Given the description of an element on the screen output the (x, y) to click on. 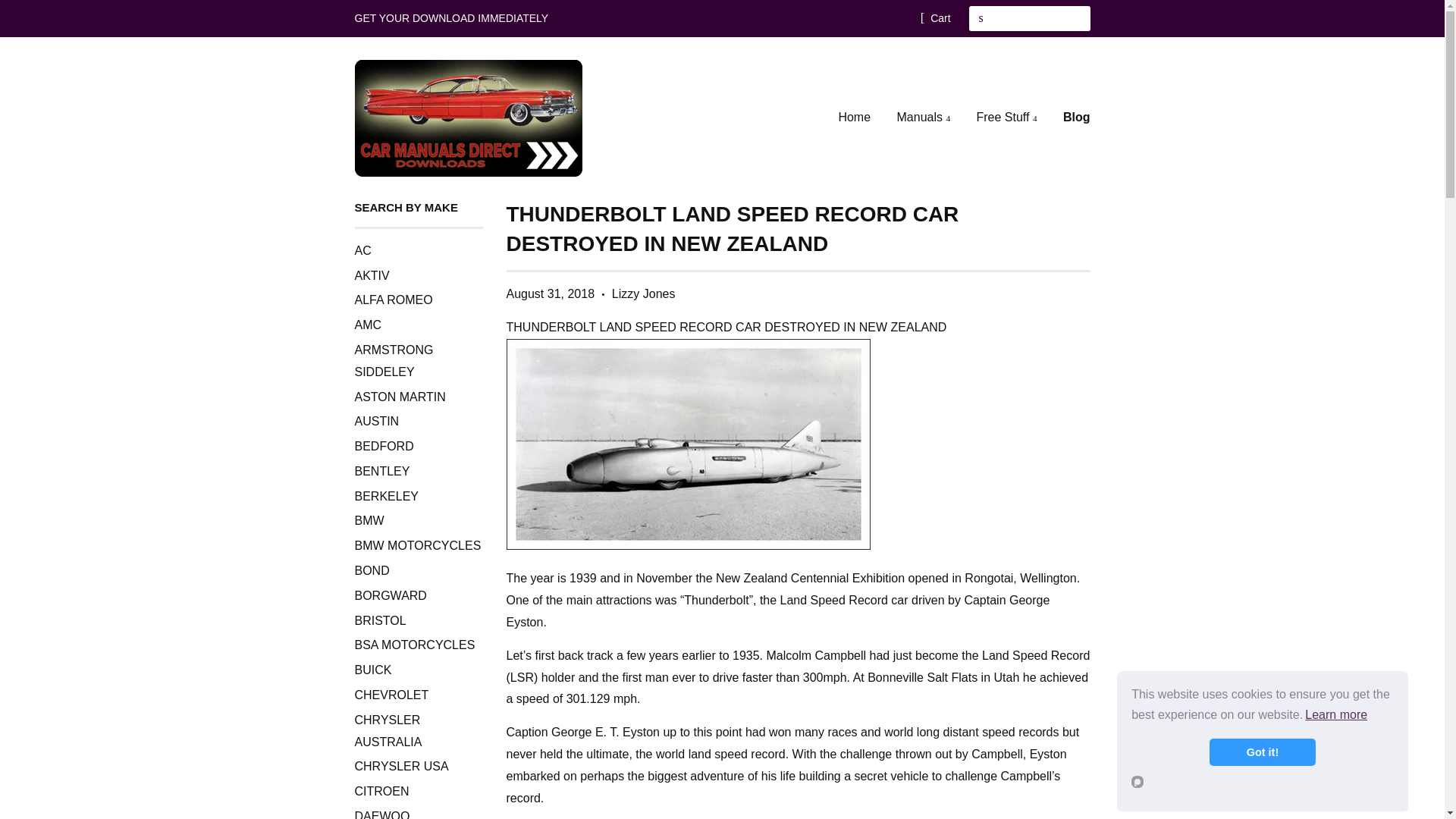
Search (980, 18)
Cart (935, 17)
